Given the description of an element on the screen output the (x, y) to click on. 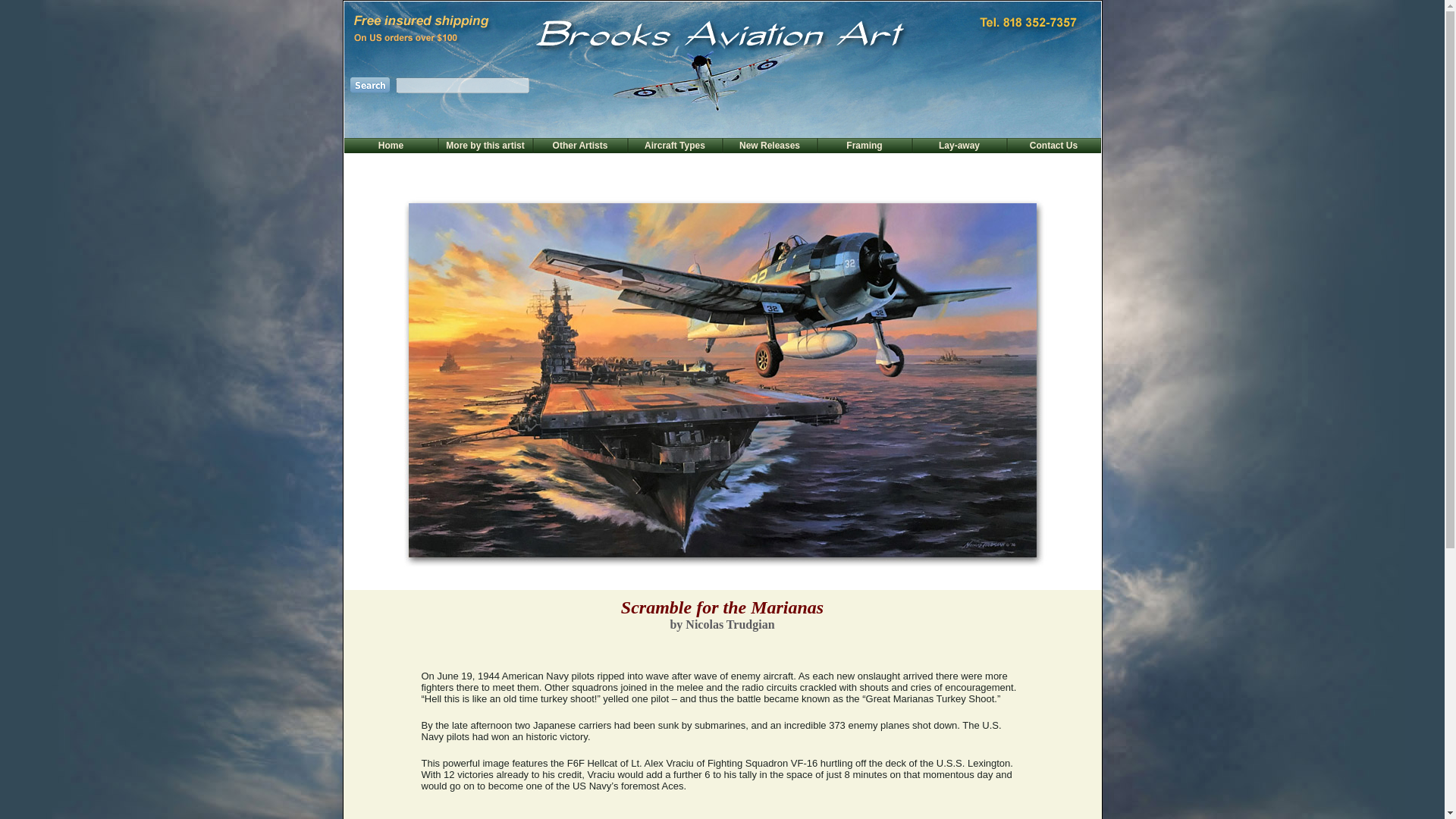
Home (390, 145)
More by this artist (484, 145)
Lay-away (959, 145)
Contact Us (1053, 145)
Framing (863, 145)
New Releases (769, 145)
Other Artists (580, 145)
Aircraft Types (674, 145)
